Given the description of an element on the screen output the (x, y) to click on. 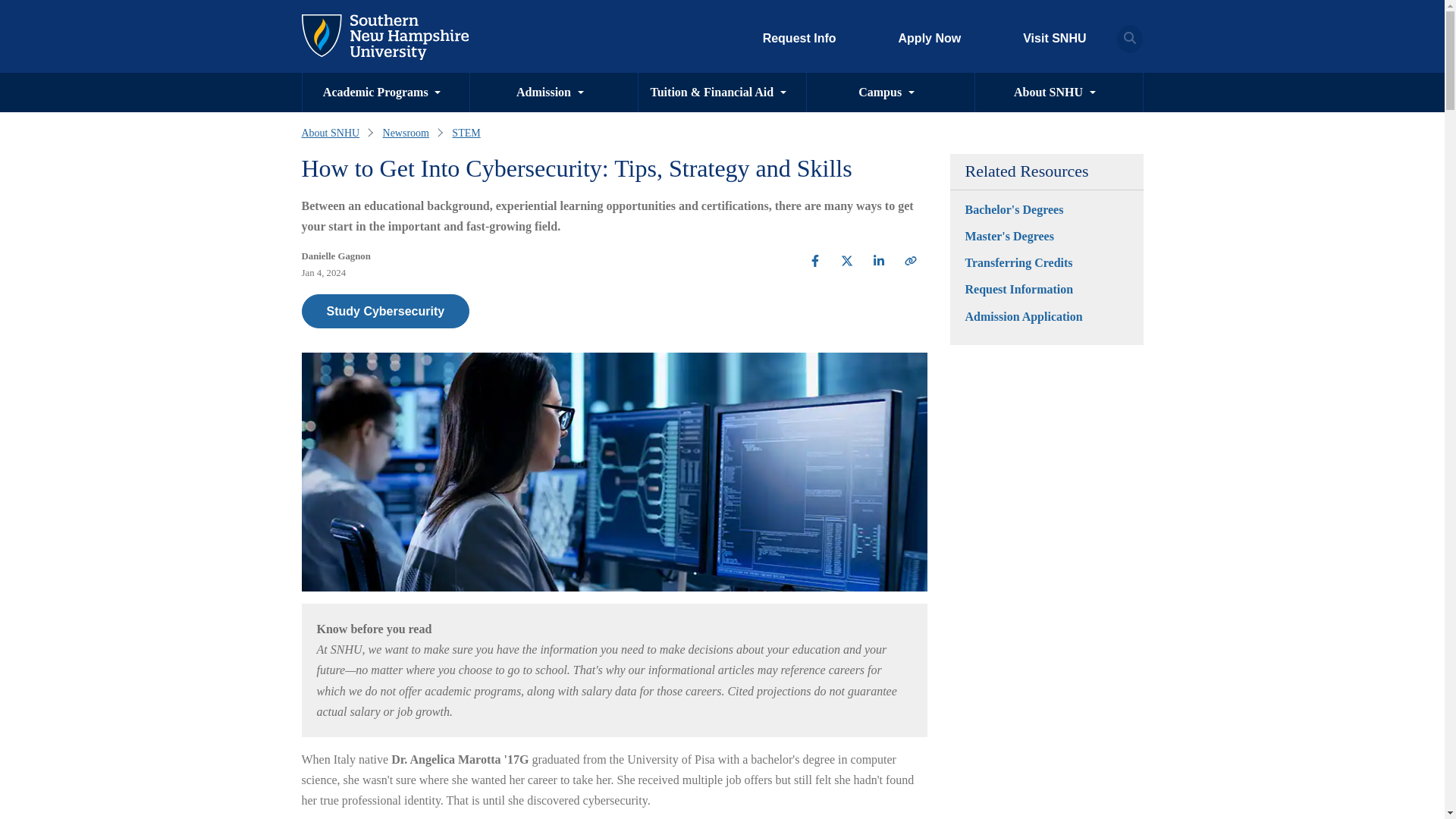
Visit SNHU (1041, 38)
Admission (543, 91)
Skip to main content (315, 10)
Southern New Hampshire University (384, 36)
Request Info (799, 38)
Academic Programs (375, 91)
Apply Now (930, 38)
